Given the description of an element on the screen output the (x, y) to click on. 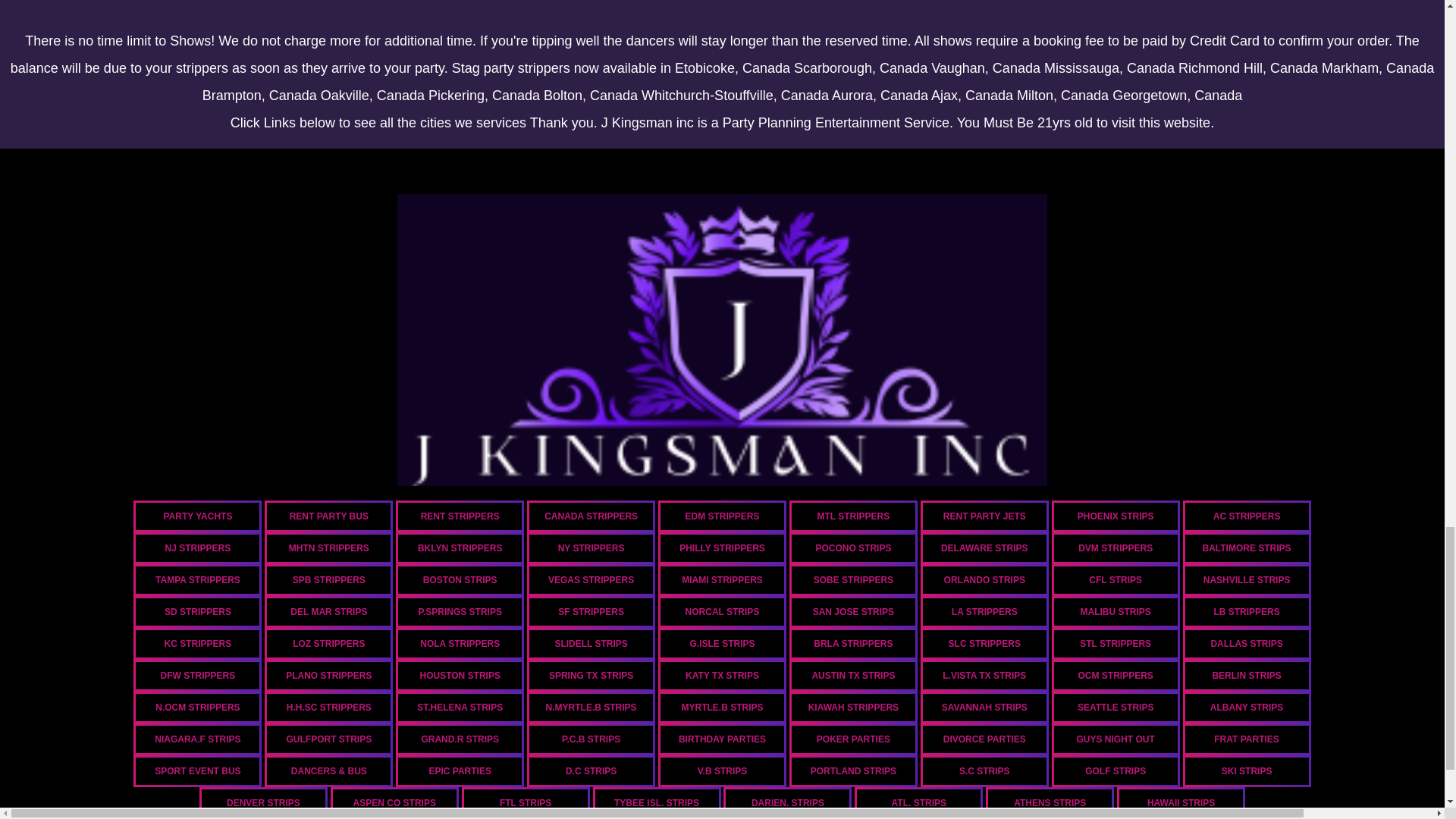
MHTN STRIPPERS (328, 548)
BOSTON STRIPS (460, 580)
RENT PARTY JETS (984, 516)
NY STRIPPERS (591, 548)
BALTIMORE STRIPS (1246, 548)
PHOENIX STRIPS (1115, 516)
BKLYN STRIPPERS (460, 548)
EDM STRIPPERS (722, 516)
ORLANDO STRIPS (984, 580)
RENT STRIPPERS (460, 516)
